Given the description of an element on the screen output the (x, y) to click on. 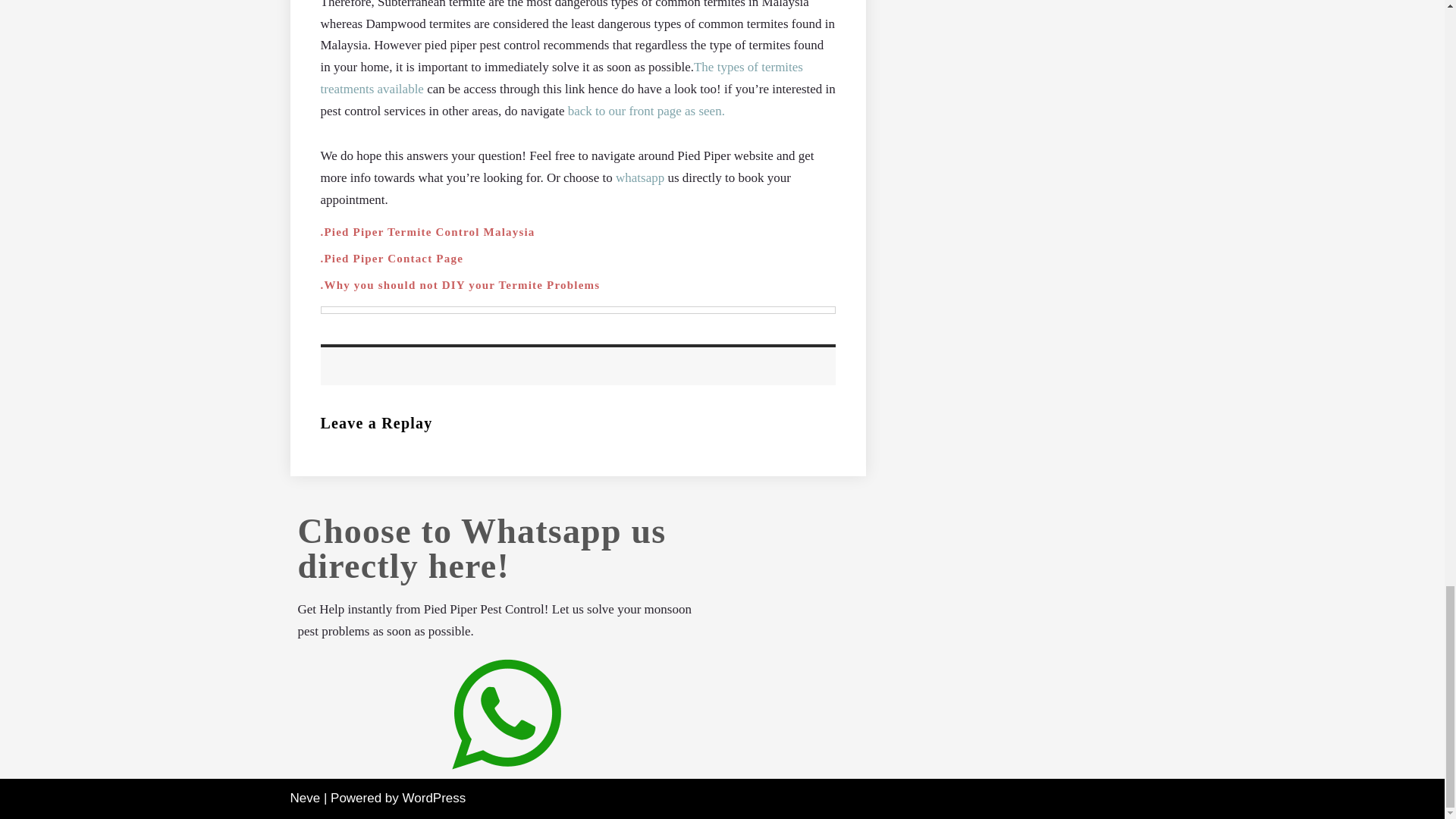
Choose to Whatsapp us directly here! (481, 548)
.Why you should not DIY your Termite Problems (459, 285)
WordPress (434, 798)
whatsapp (639, 177)
.Pied Piper Contact Page (391, 258)
Neve (304, 798)
.Pied Piper Termite Control Malaysia (427, 232)
back to our front page as seen. (646, 110)
The types of termites treatments available (561, 77)
